Given the description of an element on the screen output the (x, y) to click on. 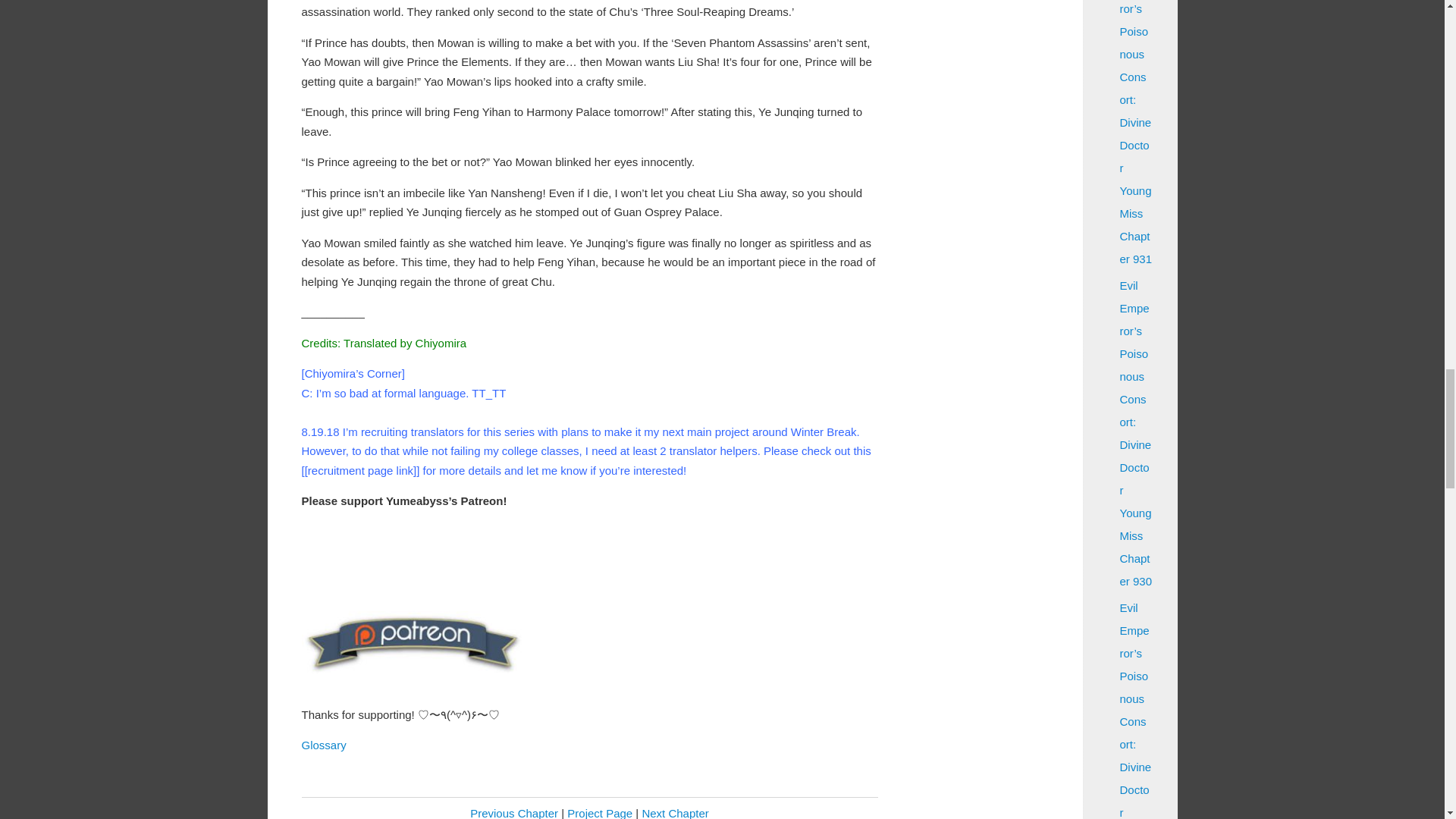
Next Chapter (674, 812)
recruitment page link (360, 470)
Glossary (323, 744)
Previous Chapter (513, 812)
Project Page (599, 812)
